Given the description of an element on the screen output the (x, y) to click on. 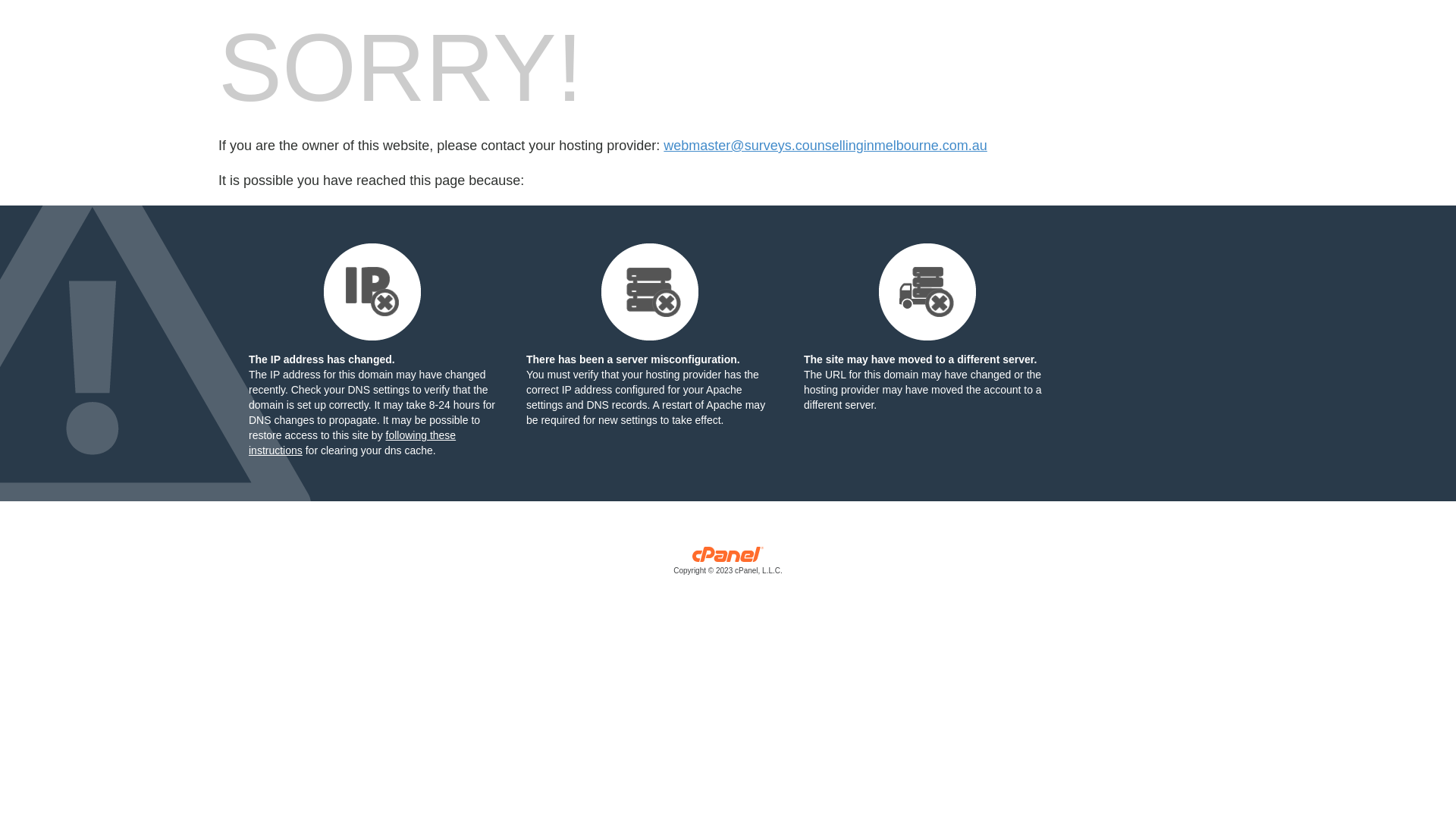
following these instructions Element type: text (351, 442)
webmaster@surveys.counsellinginmelbourne.com.au Element type: text (824, 145)
